Given the description of an element on the screen output the (x, y) to click on. 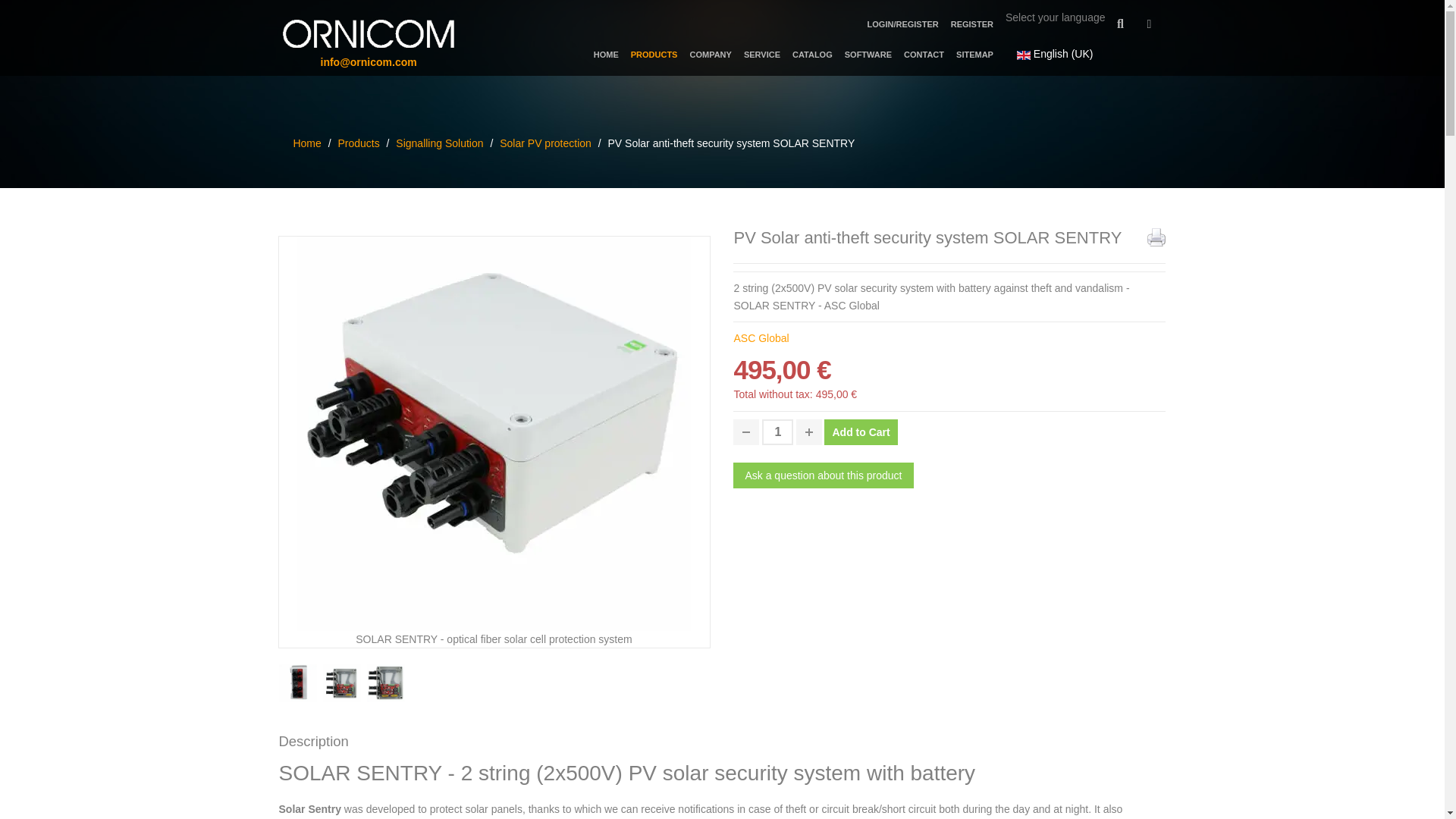
Register (978, 24)
Add to Cart (860, 432)
HOME (612, 54)
REGISTER (978, 24)
PRODUCTS (660, 54)
Print (1156, 237)
SOLAR SENTRY - optical fiber solar cell protection system (493, 431)
SOLAR SENTRY - optical fiber solar cell protection system (301, 682)
SOLAR SENTRY - optical fiber solar cell protection system (388, 682)
